Given the description of an element on the screen output the (x, y) to click on. 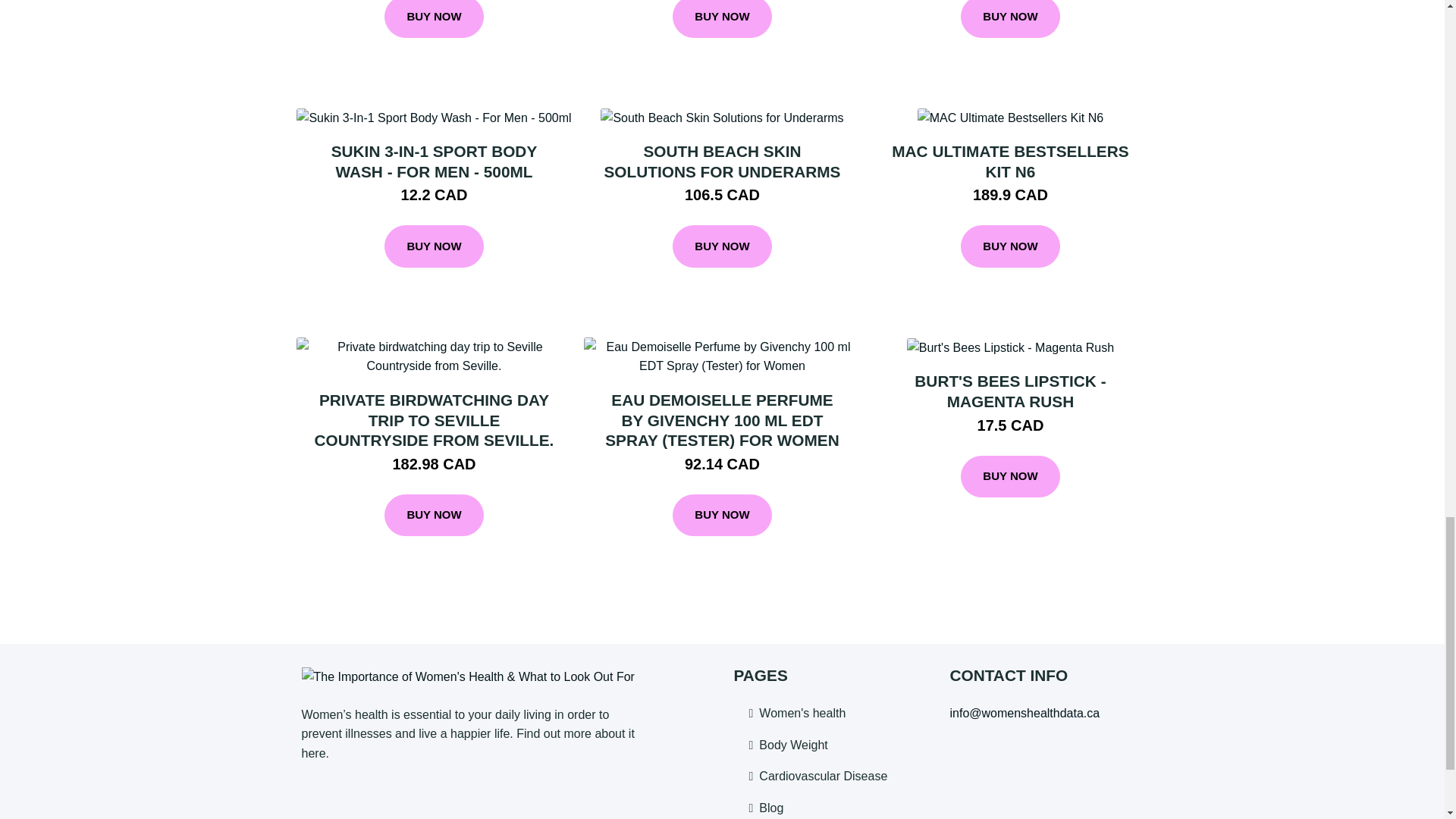
BUY NOW (433, 18)
BUY NOW (721, 18)
